Given the description of an element on the screen output the (x, y) to click on. 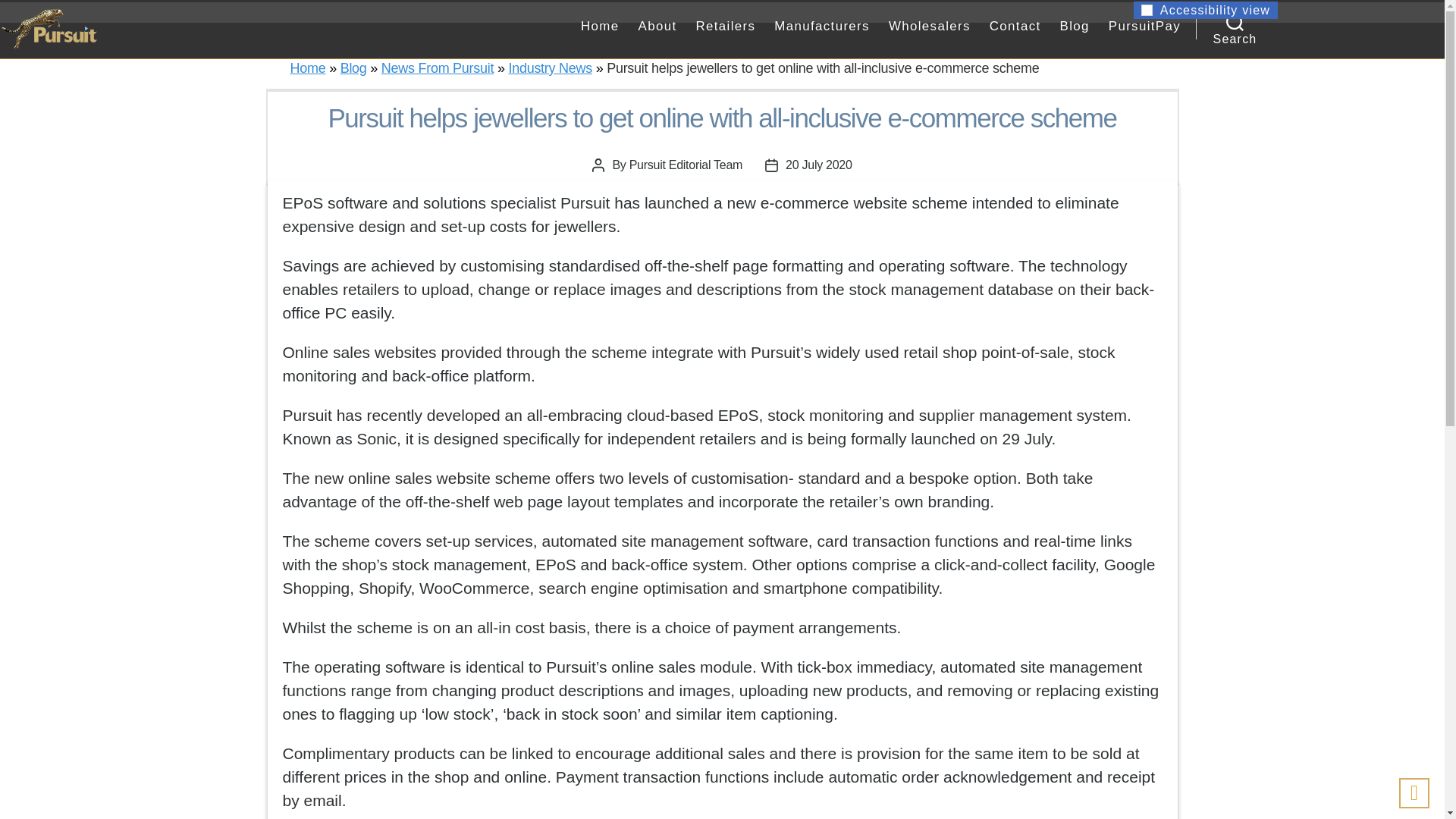
Manufacturers (821, 28)
Home (600, 28)
Search (1234, 20)
Blog (353, 68)
About (658, 28)
Contact (1015, 28)
Wholesalers (929, 28)
Blog (1074, 28)
on (1147, 9)
Retailers (725, 28)
PursuitPay (1144, 28)
Home (306, 68)
Industry News (550, 68)
News From Pursuit (437, 68)
